Given the description of an element on the screen output the (x, y) to click on. 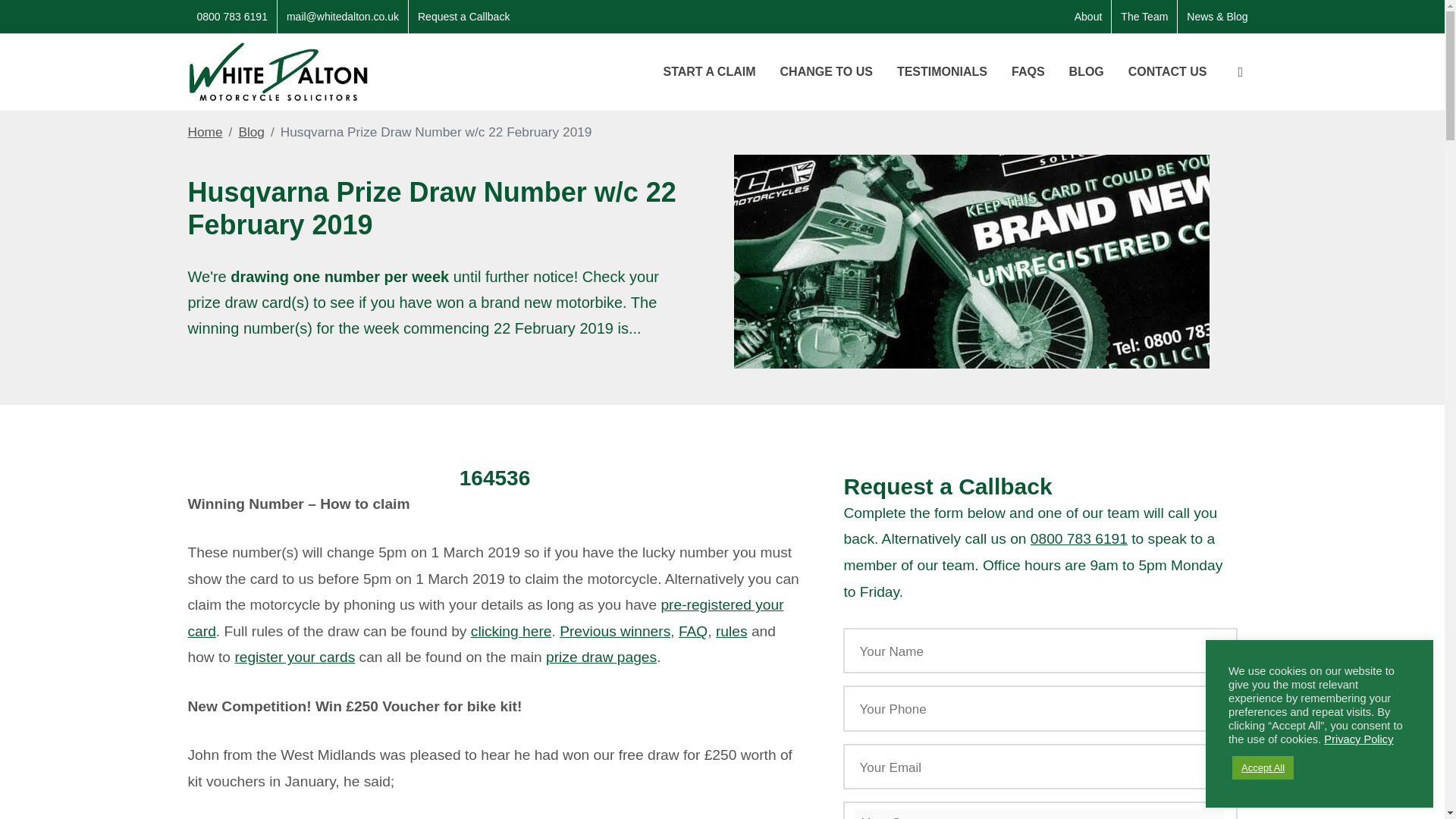
TESTIMONIALS (941, 71)
Testimonials (941, 71)
Previous winners (614, 631)
Change to us (825, 71)
Request a Callback (463, 16)
BLOG (1086, 71)
rules (732, 631)
FAQs (1028, 71)
Blog (251, 132)
CHANGE TO US (825, 71)
START A CLAIM (708, 71)
clicking here (510, 631)
register your cards (294, 657)
Request a Callback (463, 16)
About (1088, 16)
